Given the description of an element on the screen output the (x, y) to click on. 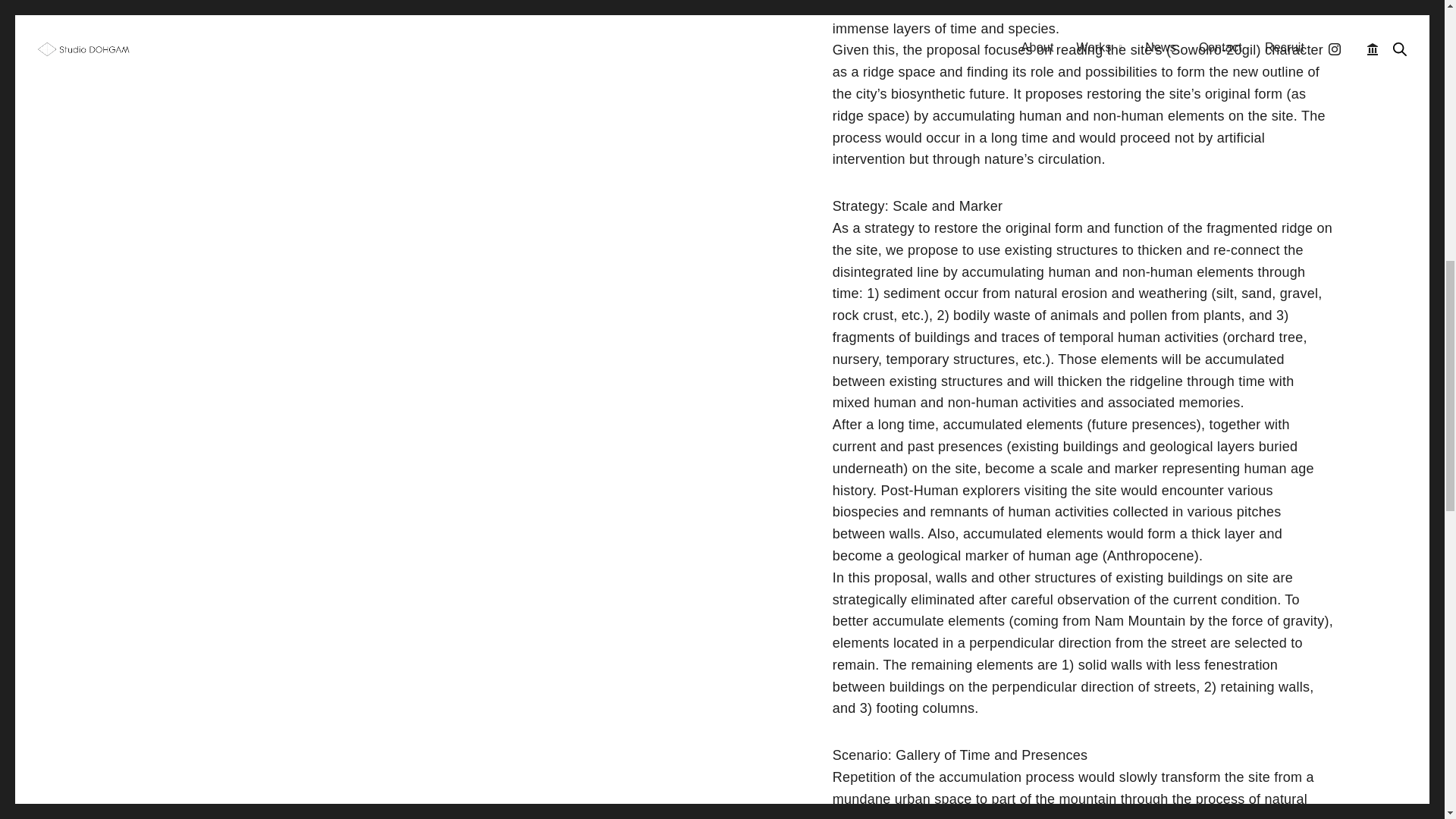
Scroll To Top (1390, 22)
